Given the description of an element on the screen output the (x, y) to click on. 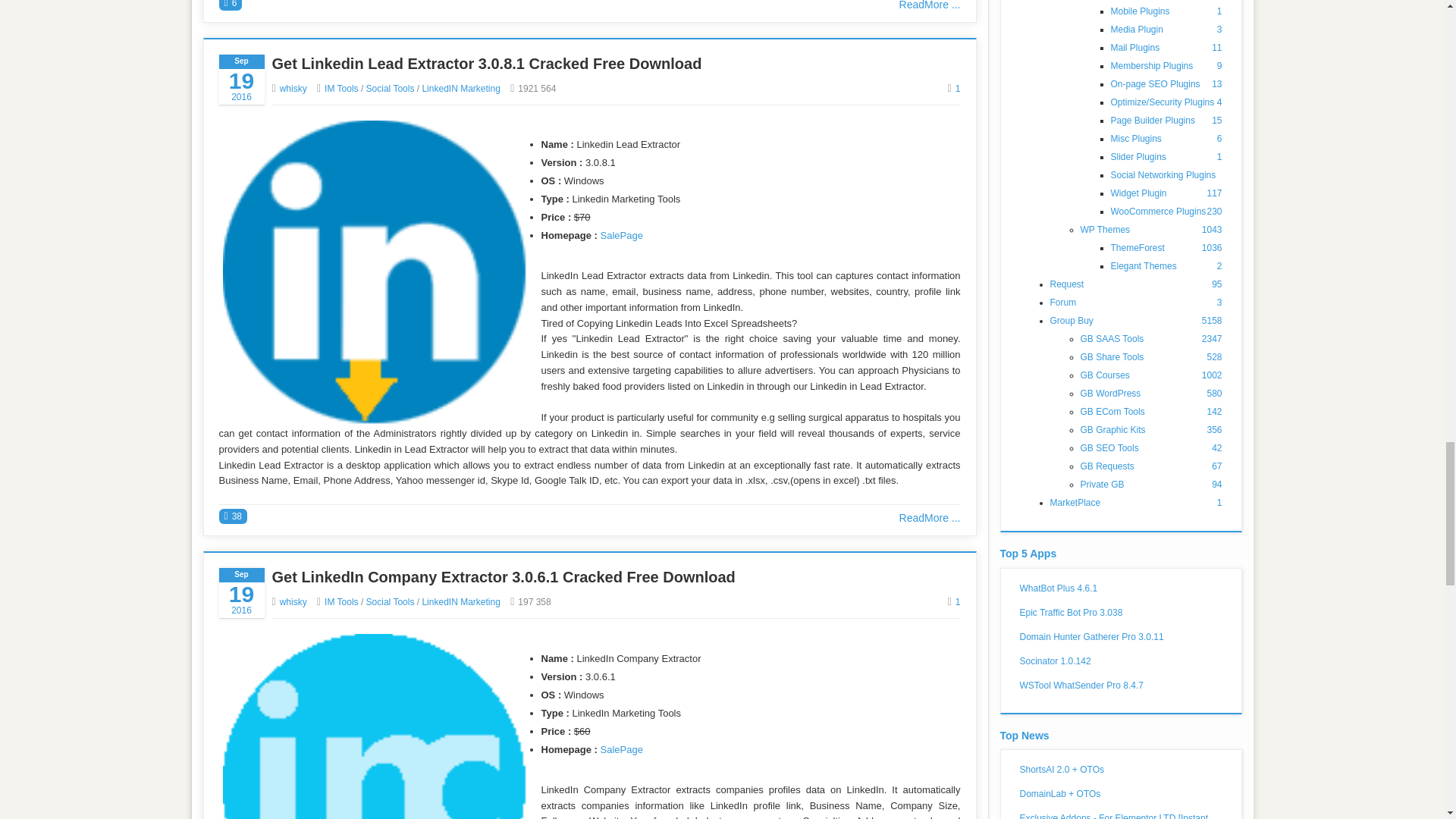
Linkedin Lead Extractor 3.0.8.1 (373, 272)
LinkedIn Company Extractor 3.0.6.1 (373, 726)
